Given the description of an element on the screen output the (x, y) to click on. 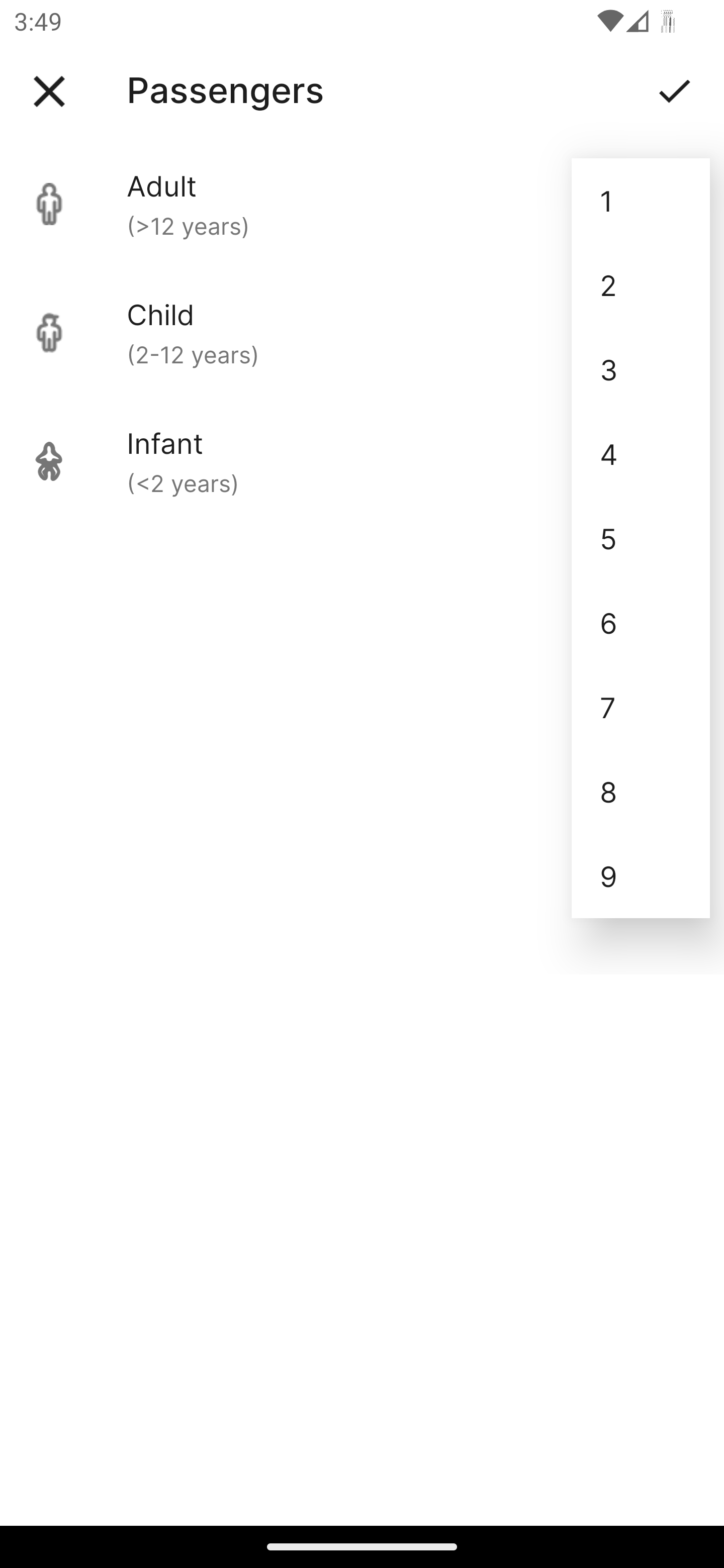
1 (640, 200)
2 (640, 285)
3 (640, 368)
4 (640, 452)
5 (640, 537)
6 (640, 622)
7 (640, 706)
8 (640, 791)
9 (640, 876)
